Given the description of an element on the screen output the (x, y) to click on. 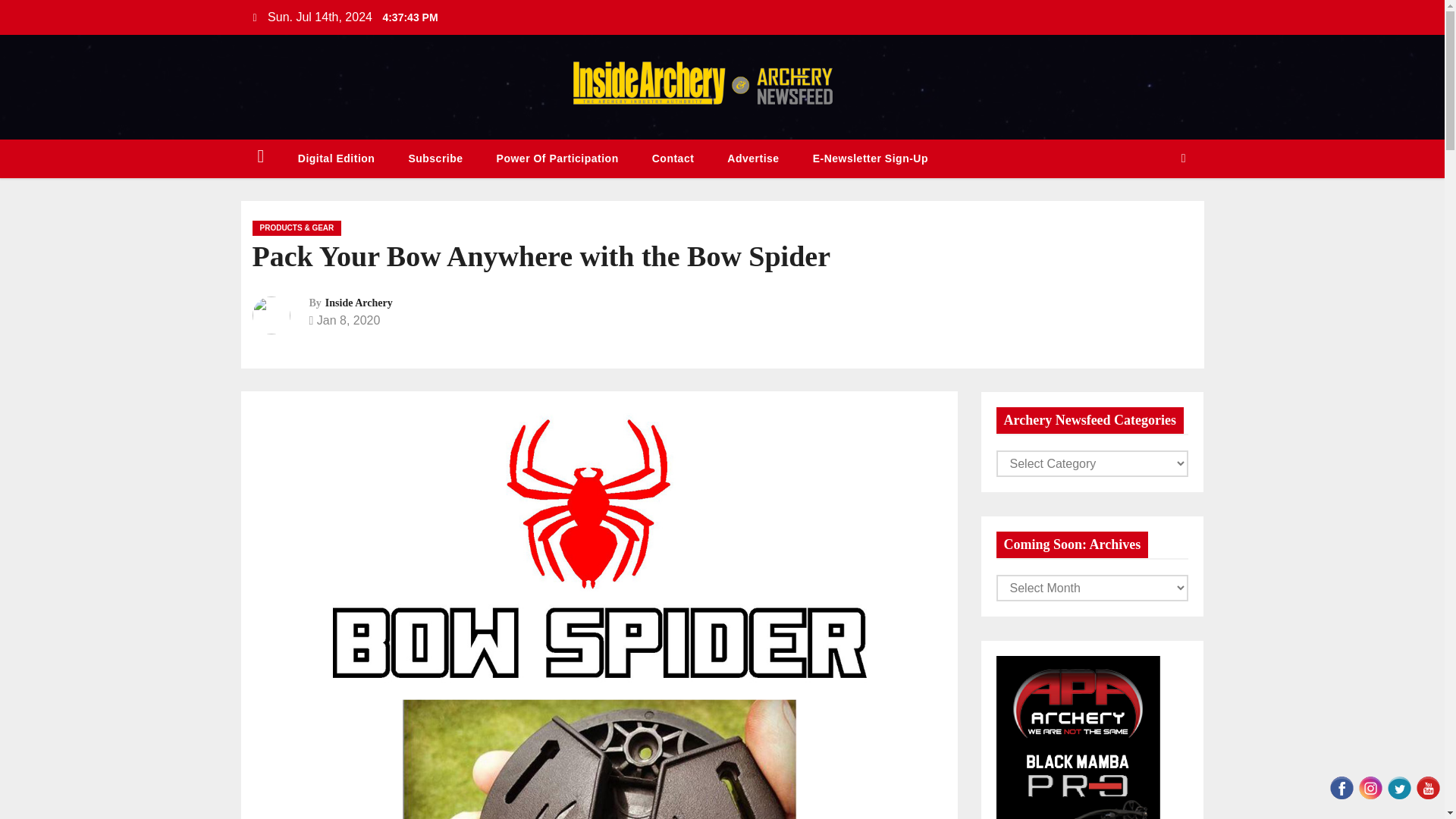
Digital Edition (336, 158)
Inside Archery (358, 302)
Power of Participation (557, 158)
E-Newsletter Sign-Up (870, 158)
Subscribe (435, 158)
Contact (672, 158)
Digital Edition (336, 158)
Contact (672, 158)
Subscribe (435, 158)
Advertise (752, 158)
E-Newsletter Sign-Up (870, 158)
Power Of Participation (557, 158)
Advertise (752, 158)
Home (261, 158)
